Given the description of an element on the screen output the (x, y) to click on. 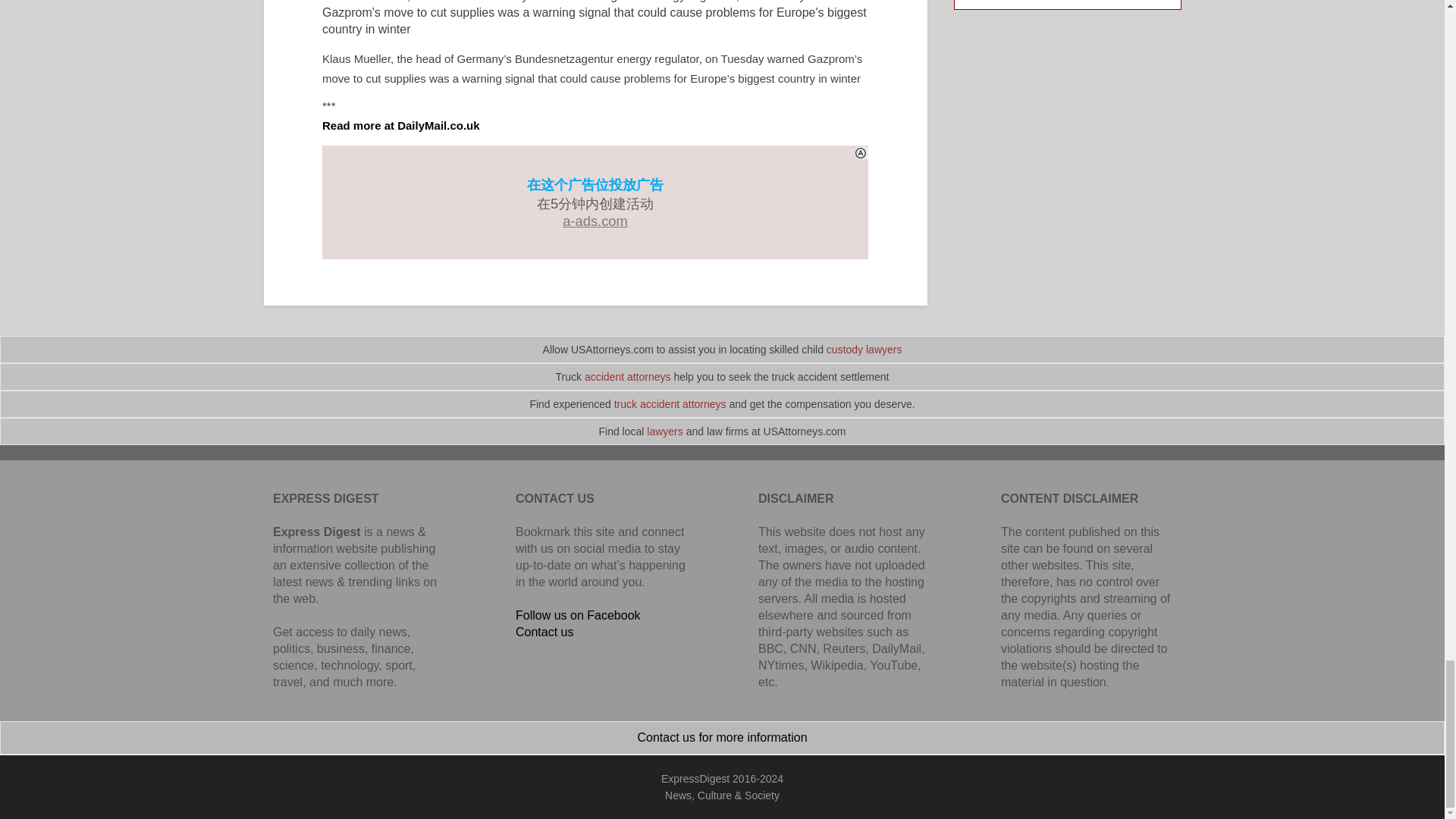
accident attorneys (628, 377)
truck accident attorneys (670, 404)
lawyers (664, 431)
Read more at DailyMail.co.uk (400, 124)
custody lawyers (864, 349)
